Given the description of an element on the screen output the (x, y) to click on. 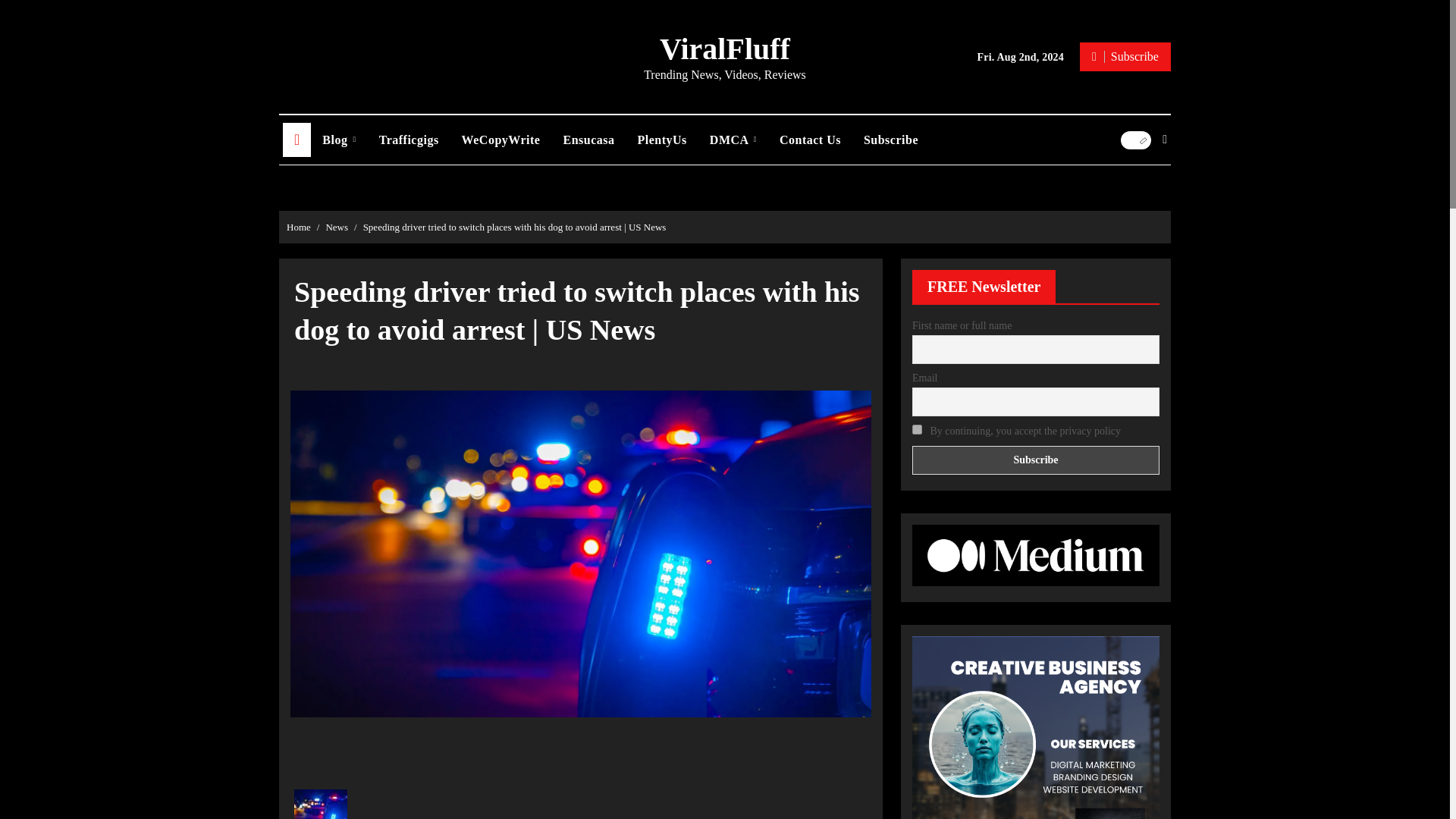
DMCA (733, 139)
WeCopyWrite (500, 139)
Blog (338, 139)
ViralFluff (724, 48)
Ensucasa (588, 139)
Trafficgigs (408, 139)
Subscribe (1125, 56)
Subscribe (1035, 460)
Blog (338, 139)
on (916, 429)
